Given the description of an element on the screen output the (x, y) to click on. 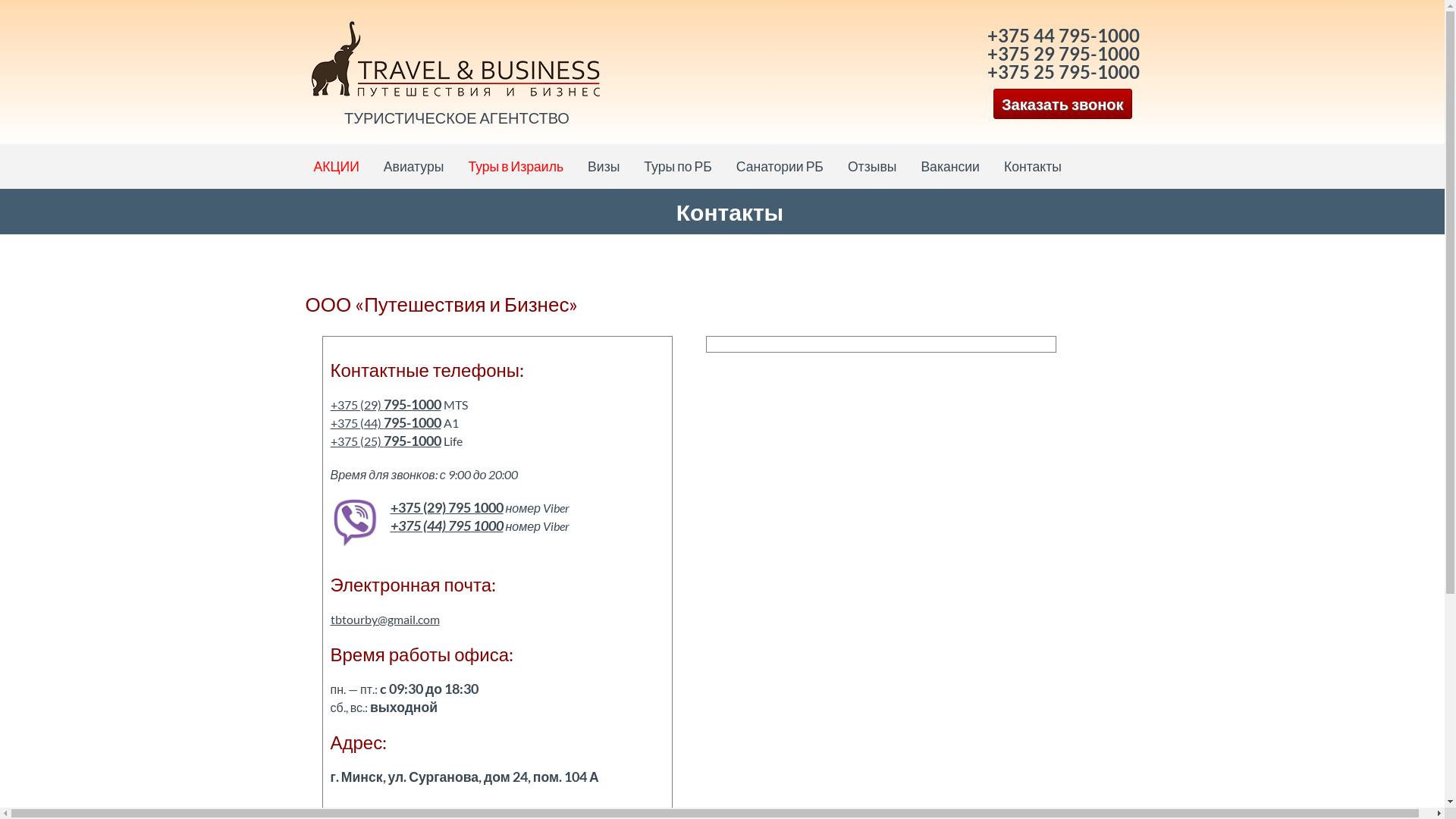
+375 44 795-1000 Element type: text (1063, 35)
+375 (44) 795-1000 Element type: text (385, 422)
+375 (44) 795 1000 Element type: text (445, 525)
+375 (25) 795-1000 Element type: text (385, 440)
+375 (29) 795 1000 Element type: text (445, 507)
tbtourby@gmail.com Element type: text (384, 618)
+375 25 795-1000 Element type: text (1063, 71)
+375 (29) 795-1000 Element type: text (385, 404)
+375 29 795-1000 Element type: text (1063, 53)
